Given the description of an element on the screen output the (x, y) to click on. 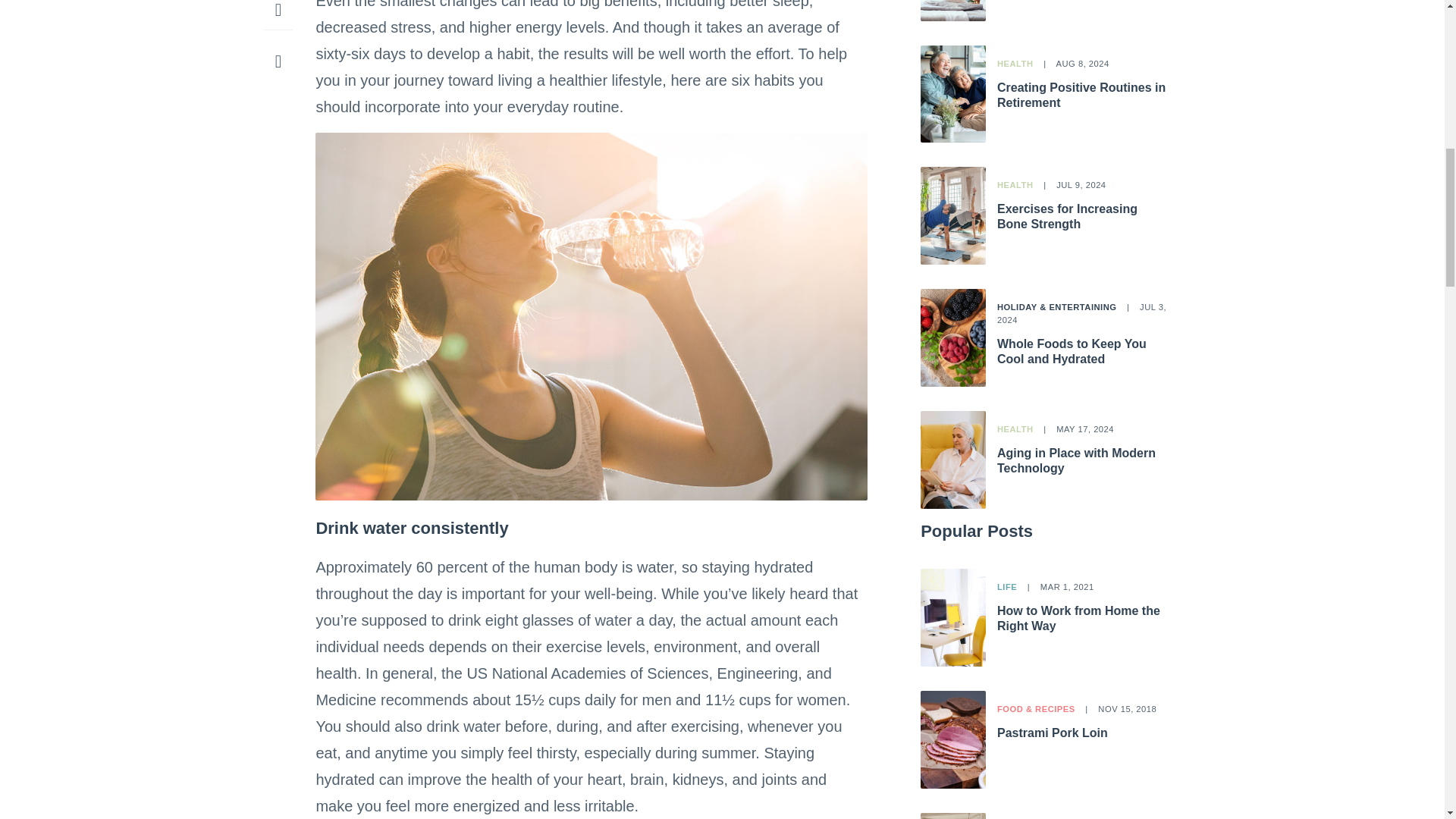
Aging in Place with Modern Technology (1076, 460)
More (278, 11)
Whole Foods to Keep You Cool and Hydrated (1072, 351)
Creating Positive Routines in Retirement (1081, 94)
How to Work from Home the Right Way (1078, 618)
Pastrami Pork Loin (1052, 732)
Exercises for Increasing Bone Strength (1067, 216)
